Given the description of an element on the screen output the (x, y) to click on. 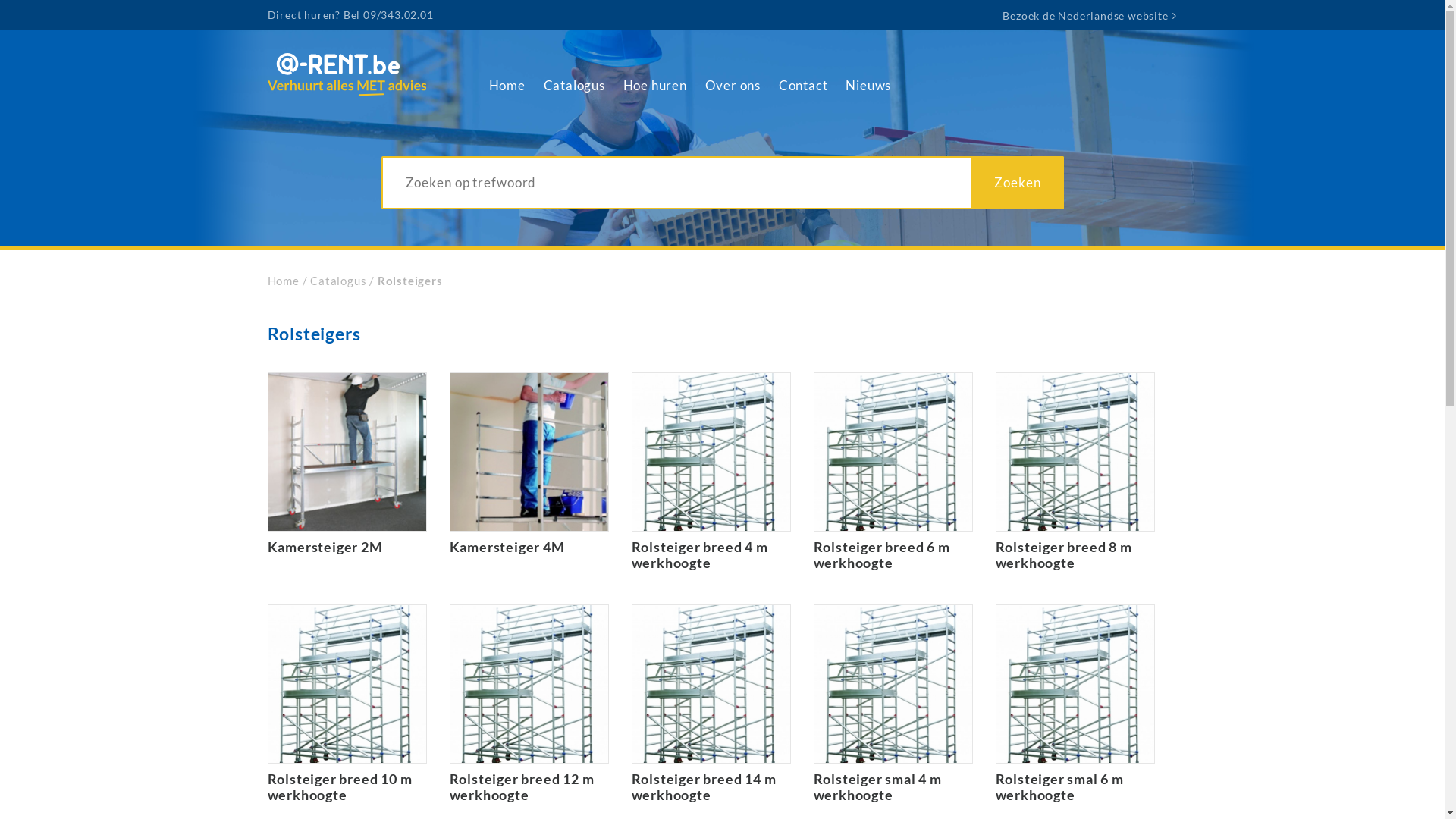
Bezoek de Nederlandse website Element type: text (1088, 15)
Over ons Element type: text (732, 85)
Rolsteiger breed 8 m werkhoogte Element type: text (1074, 471)
Rolsteiger breed 12 m werkhoogte Element type: text (528, 703)
Rolsteiger breed 10 m werkhoogte Element type: text (346, 703)
Contact Element type: text (803, 85)
Home Element type: text (506, 85)
Kamersteiger 4M Element type: text (528, 463)
C-Rental Element type: hover (346, 91)
Kamersteiger 2M Element type: text (346, 463)
Rolsteiger breed 6 m werkhoogte Element type: text (892, 471)
Rolsteiger breed 4 m werkhoogte Element type: text (710, 471)
Rolsteiger smal 4 m werkhoogte Element type: text (892, 703)
Zoeken Element type: text (1017, 182)
Catalogus Element type: text (339, 280)
Nieuws Element type: text (868, 85)
Catalogus Element type: text (574, 85)
Home Element type: text (282, 280)
Rolsteiger breed 14 m werkhoogte Element type: text (710, 703)
Rolsteiger smal 6 m werkhoogte Element type: text (1074, 703)
Hoe huren Element type: text (655, 85)
